Given the description of an element on the screen output the (x, y) to click on. 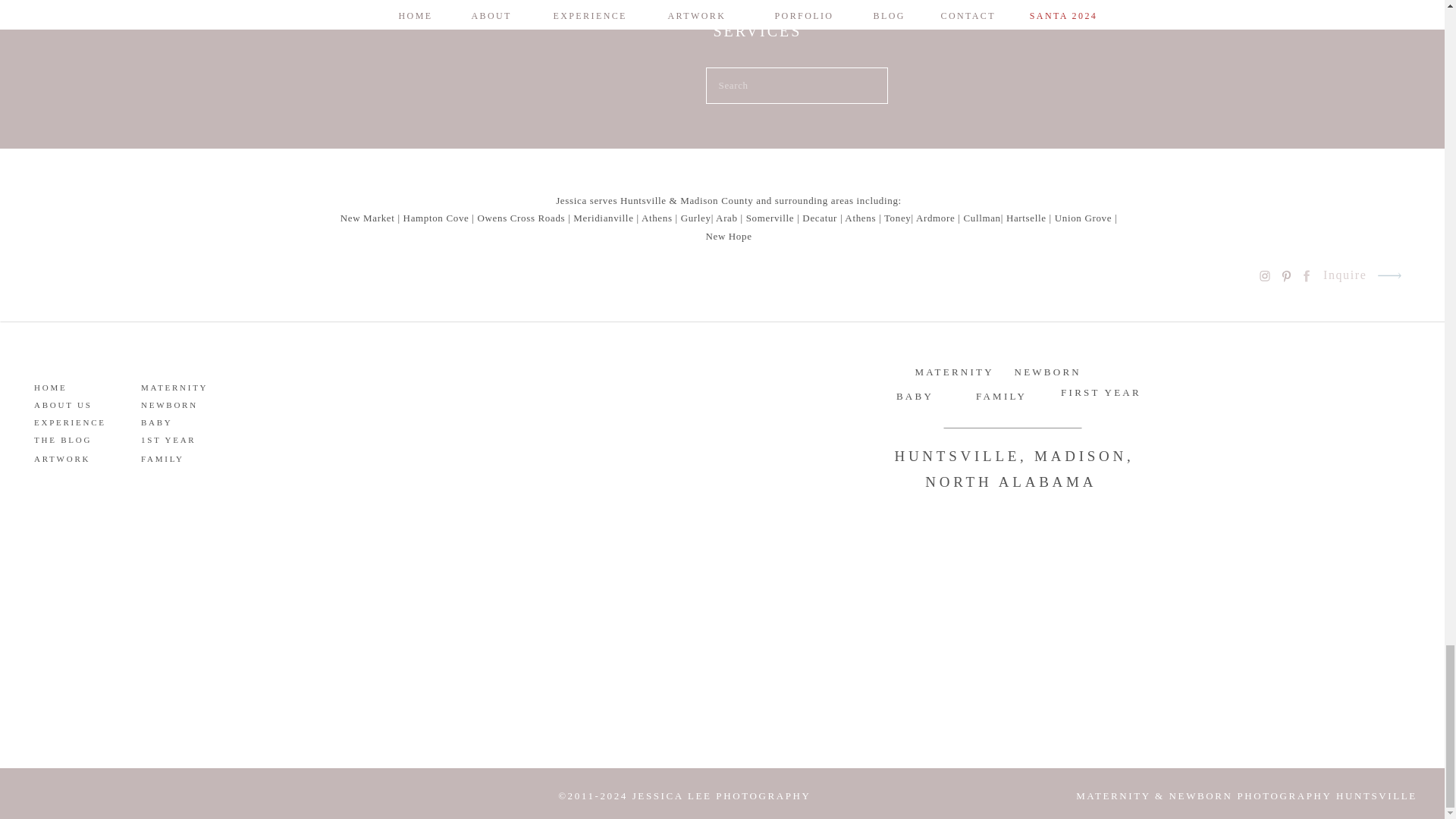
arrow (1389, 275)
